Given the description of an element on the screen output the (x, y) to click on. 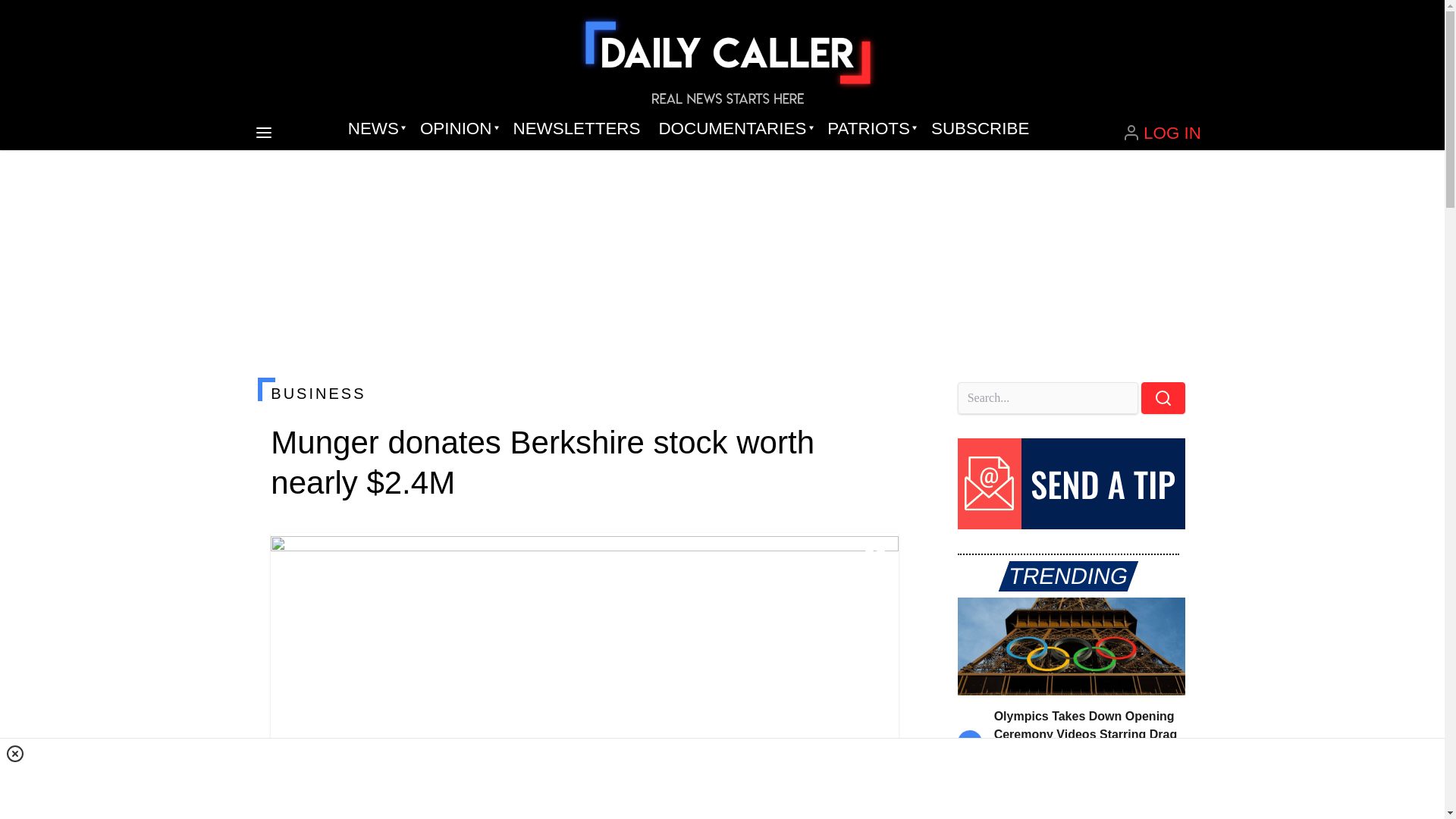
DOCUMENTARIES (733, 128)
Close window (14, 753)
BUSINESS (584, 393)
SUBSCRIBE (979, 128)
NEWS (374, 128)
OPINION (456, 128)
3rd party ad content (721, 778)
PATRIOTS (869, 128)
Toggle fullscreen (874, 556)
NEWSLETTERS (576, 128)
